Given the description of an element on the screen output the (x, y) to click on. 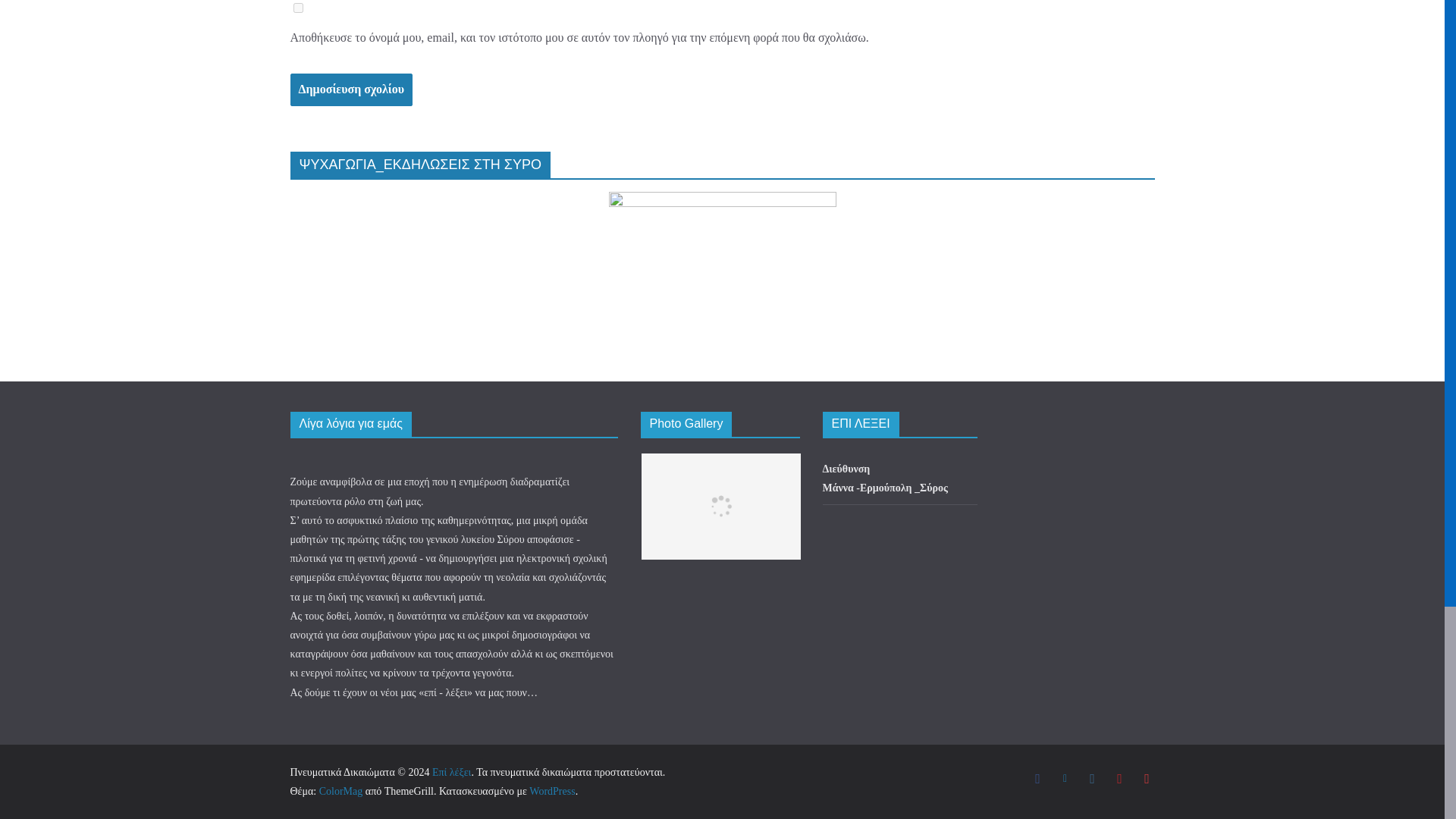
yes (297, 8)
